Given the description of an element on the screen output the (x, y) to click on. 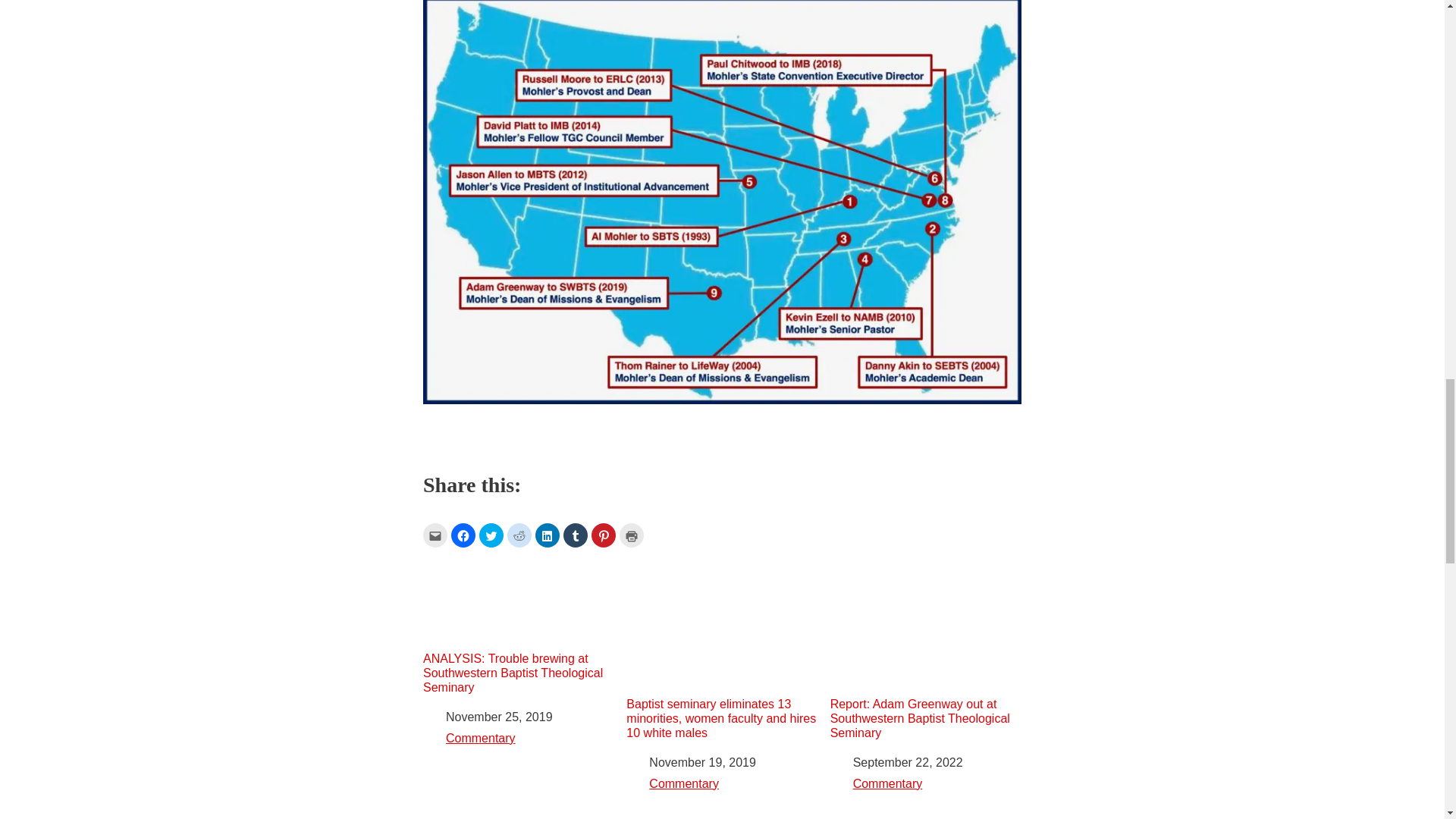
Commentary (888, 783)
Commentary (684, 783)
Click to share on Email (434, 535)
Commentary (480, 738)
Click to share on Twitter (491, 535)
Click to share on Tumblr (575, 535)
Print (631, 535)
Click to share on Facebook (463, 535)
Click to share on Pinterest (603, 535)
Click to share on LinkedIn (547, 535)
Click to share on Reddit (518, 535)
